Given the description of an element on the screen output the (x, y) to click on. 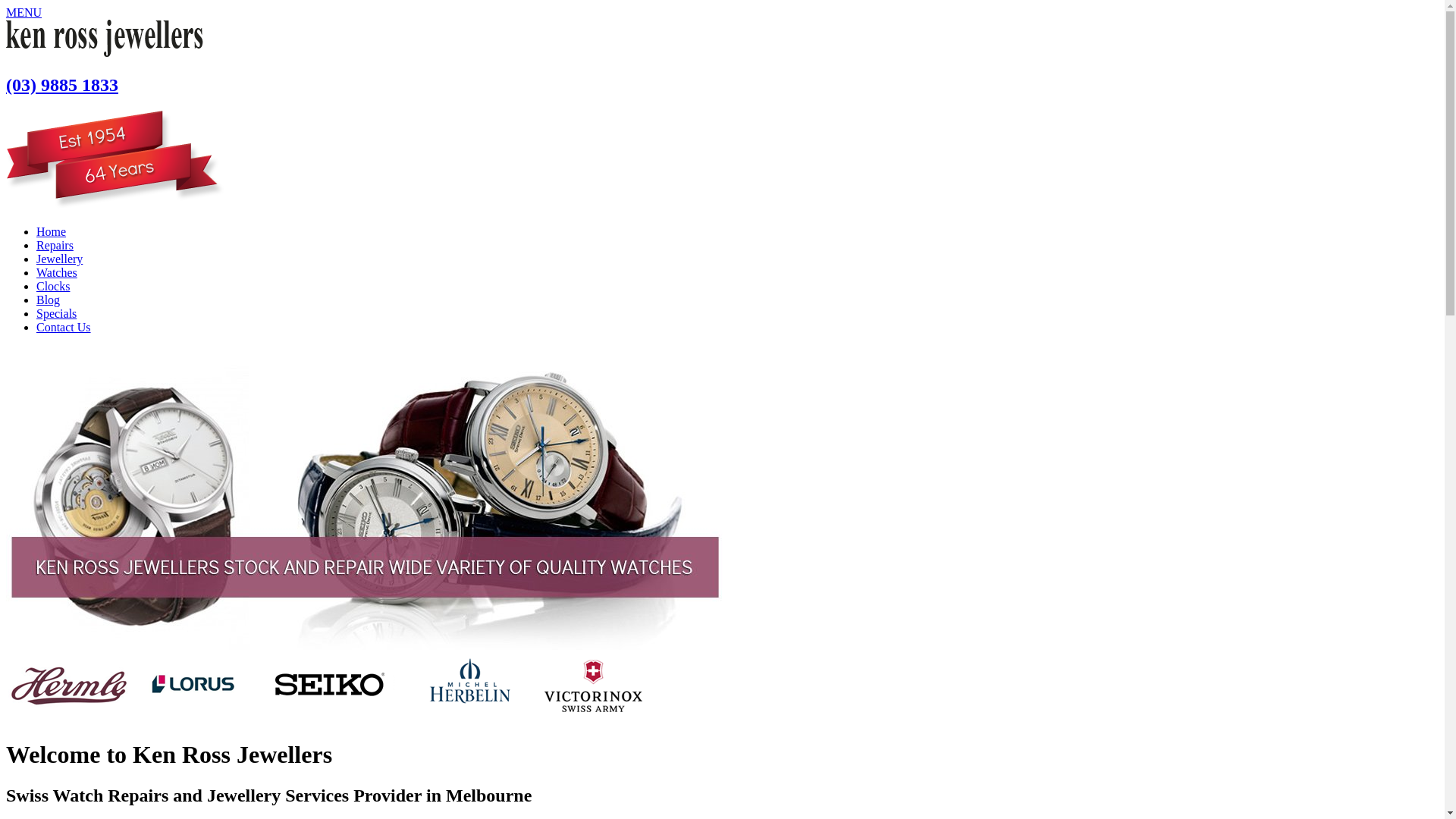
Specials Element type: text (56, 313)
Watches Element type: text (56, 272)
Home Element type: text (50, 231)
Contact Us Element type: text (63, 326)
Blog Element type: text (47, 299)
(03) 9885 1833 Element type: text (62, 84)
Repairs Element type: text (54, 244)
Clocks Element type: text (52, 285)
MENU Element type: text (23, 12)
Jewellery Element type: text (59, 258)
